Given the description of an element on the screen output the (x, y) to click on. 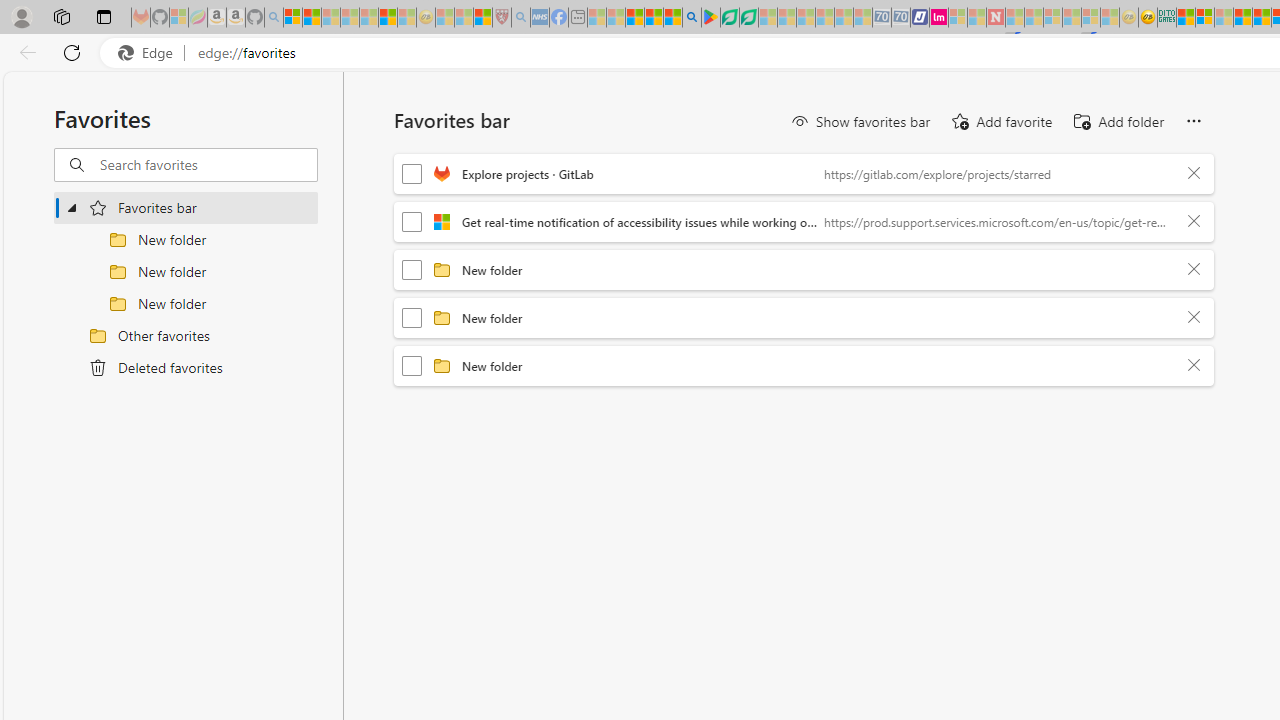
Edge (150, 53)
Kinda Frugal - MSN (1262, 17)
